Given the description of an element on the screen output the (x, y) to click on. 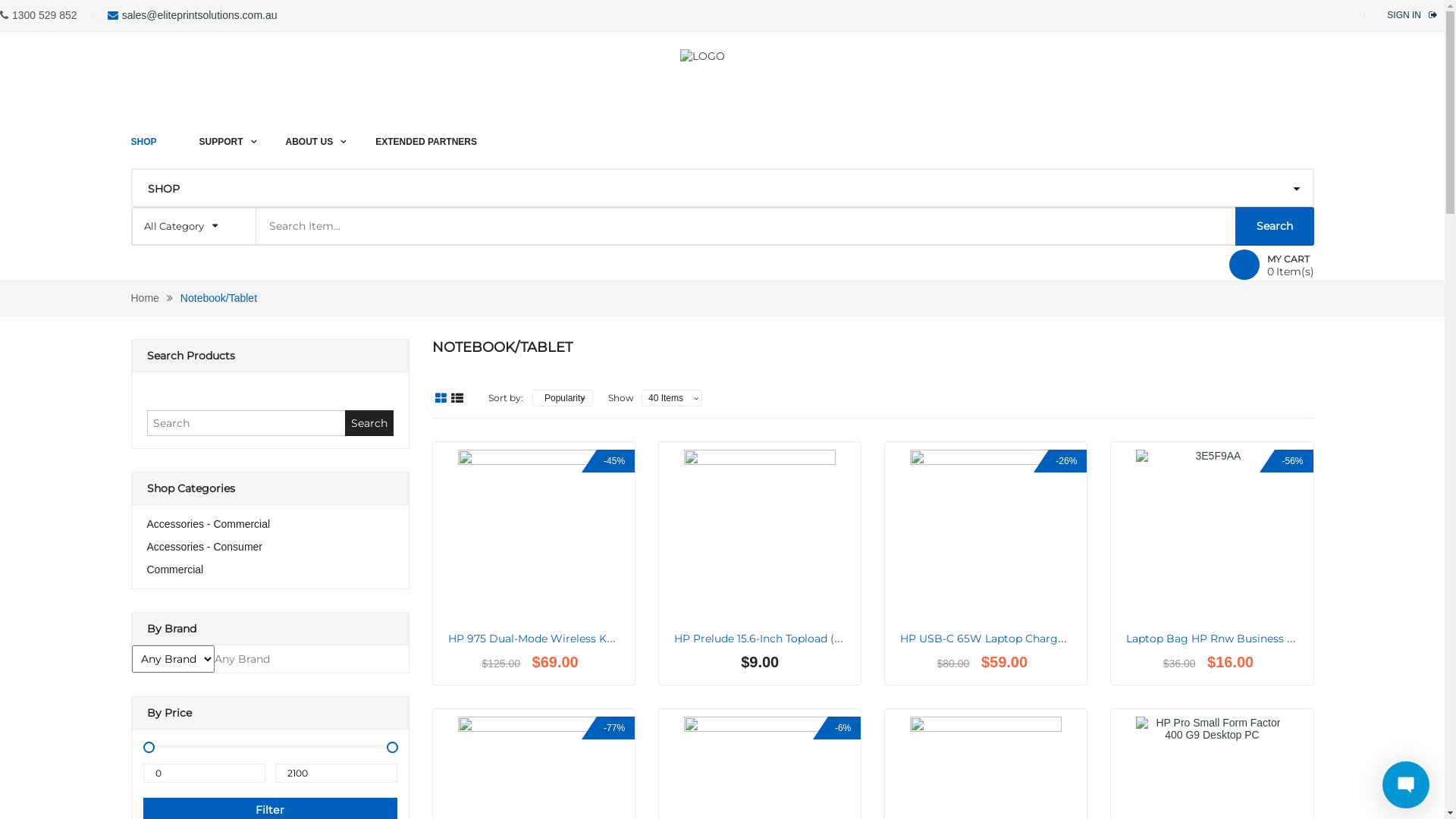
HP 975 Dual-Mode Wireless Keyboard (3Z726AA) Element type: text (577, 638)
Search Element type: text (1273, 226)
List view Element type: hover (456, 397)
EXTENDED PARTNERS Element type: text (426, 133)
Commercial Element type: text (175, 569)
sales@eliteprintsolutions.com.au Element type: text (199, 15)
SIGN IN Element type: text (1404, 15)
Popularity Element type: text (562, 397)
HP Prelude 15.6-Inch Topload (1E7D7AA) Element type: text (779, 638)
Laptop Bag HP Rnw Business 14.1 (3E5F9AA) Element type: text (1243, 638)
Grid view Element type: hover (440, 397)
Search Element type: text (369, 423)
SHOP Element type: text (153, 133)
Home Element type: text (144, 297)
Accessories - Consumer Element type: text (205, 546)
40 Items Element type: text (671, 397)
Accessories - Commercial Element type: text (208, 523)
View your shopping cart Element type: hover (1243, 264)
HP USB-C 65W Laptop Charger (671R3AA) Element type: text (1012, 638)
SUPPORT Element type: text (221, 133)
ABOUT US Element type: text (309, 133)
